Given the description of an element on the screen output the (x, y) to click on. 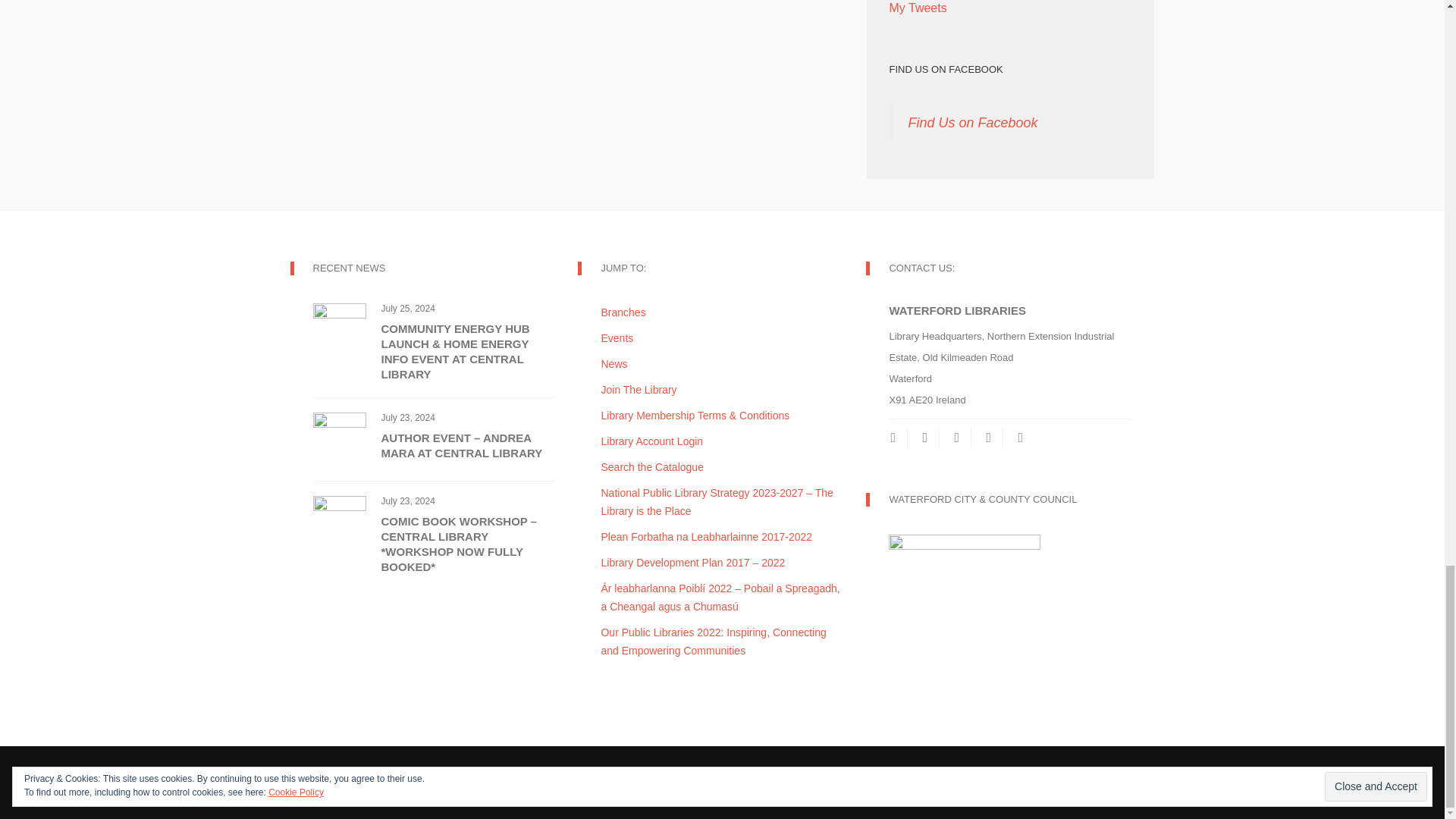
RSS (925, 436)
